Given the description of an element on the screen output the (x, y) to click on. 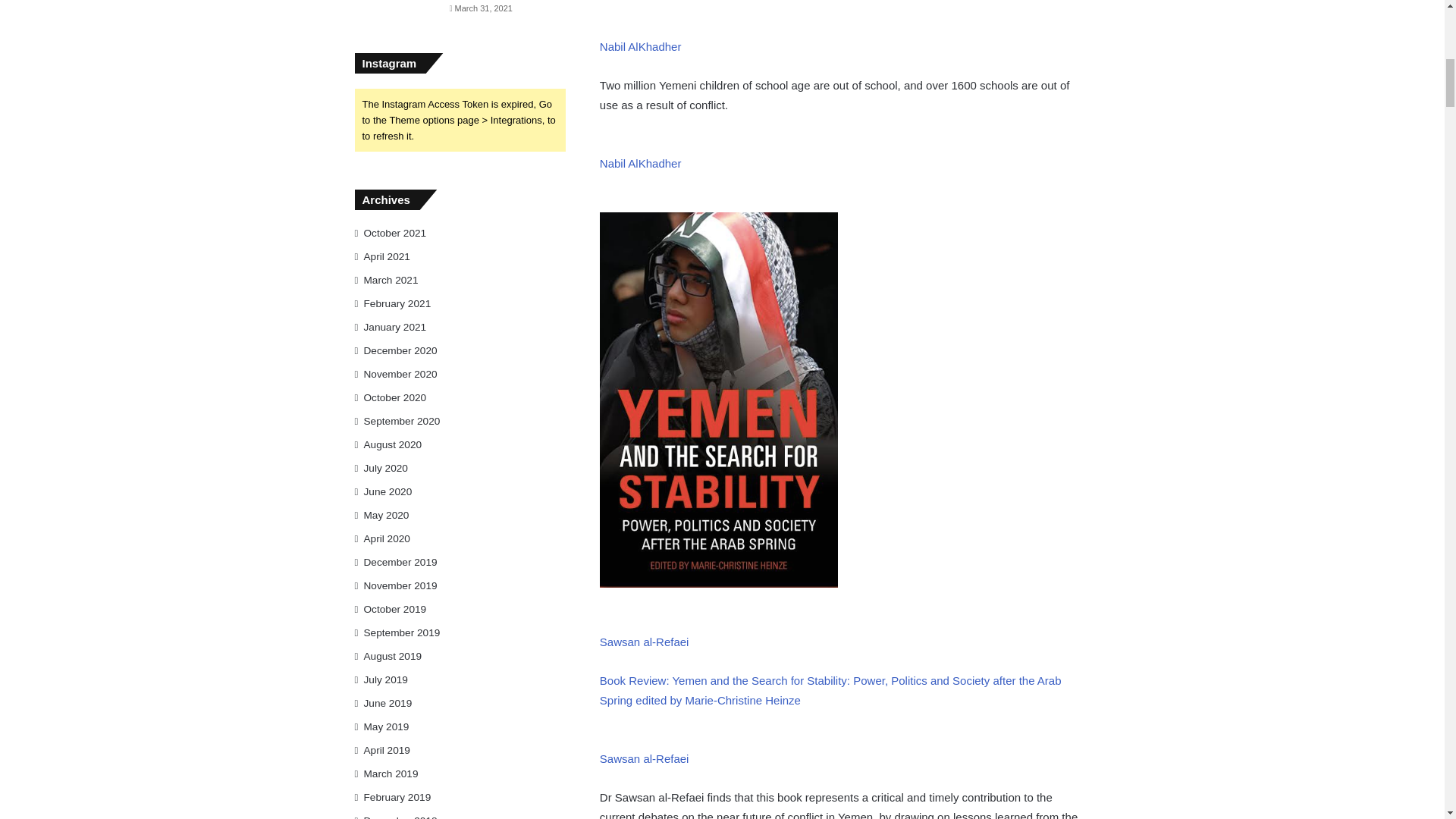
Nabil AlKhadher (640, 46)
Sawsan al-Refaei (643, 758)
Sawsan al-Refaei (643, 641)
Nabil AlKhadher (640, 163)
